Given the description of an element on the screen output the (x, y) to click on. 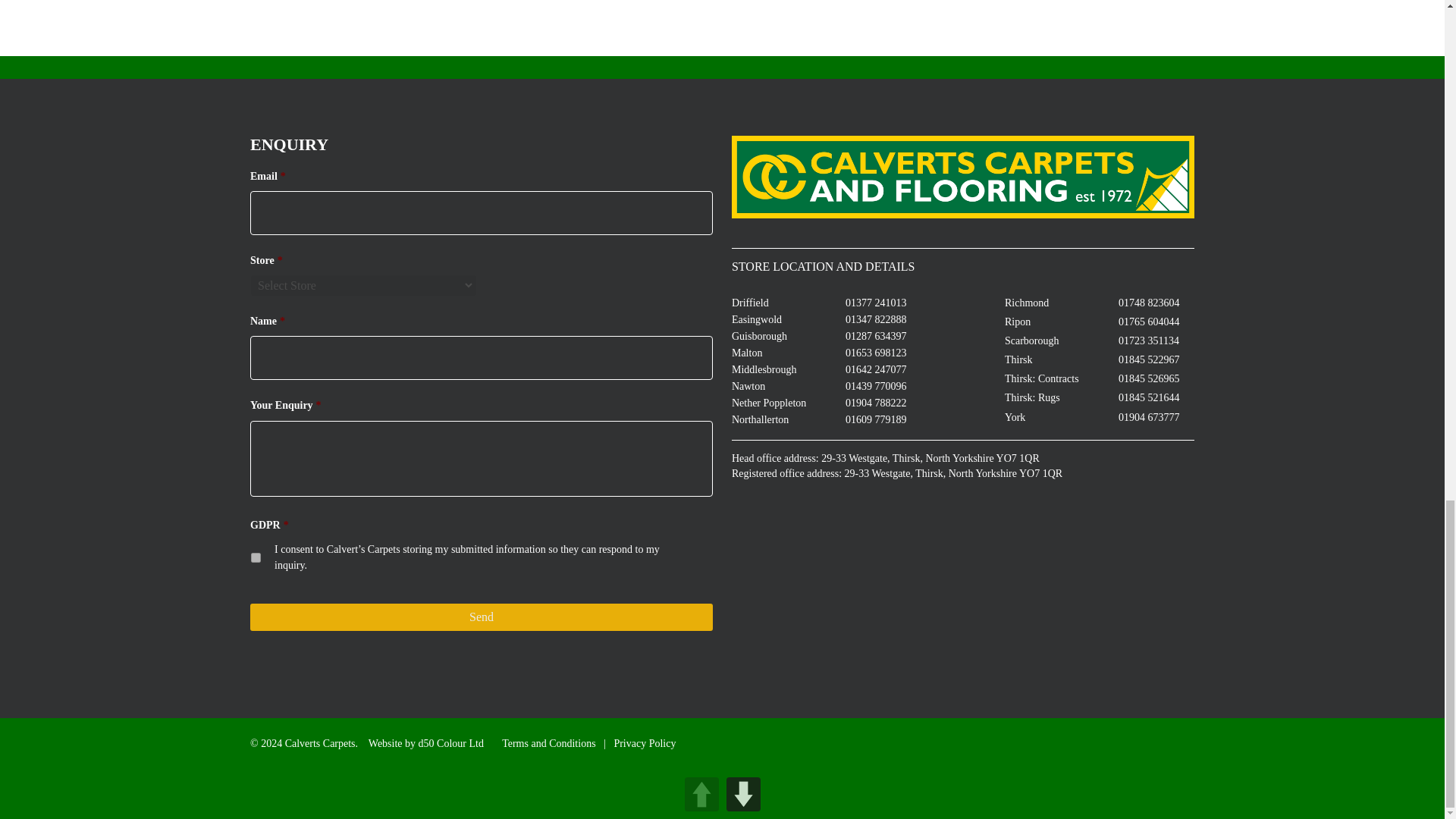
Send (481, 616)
